Given the description of an element on the screen output the (x, y) to click on. 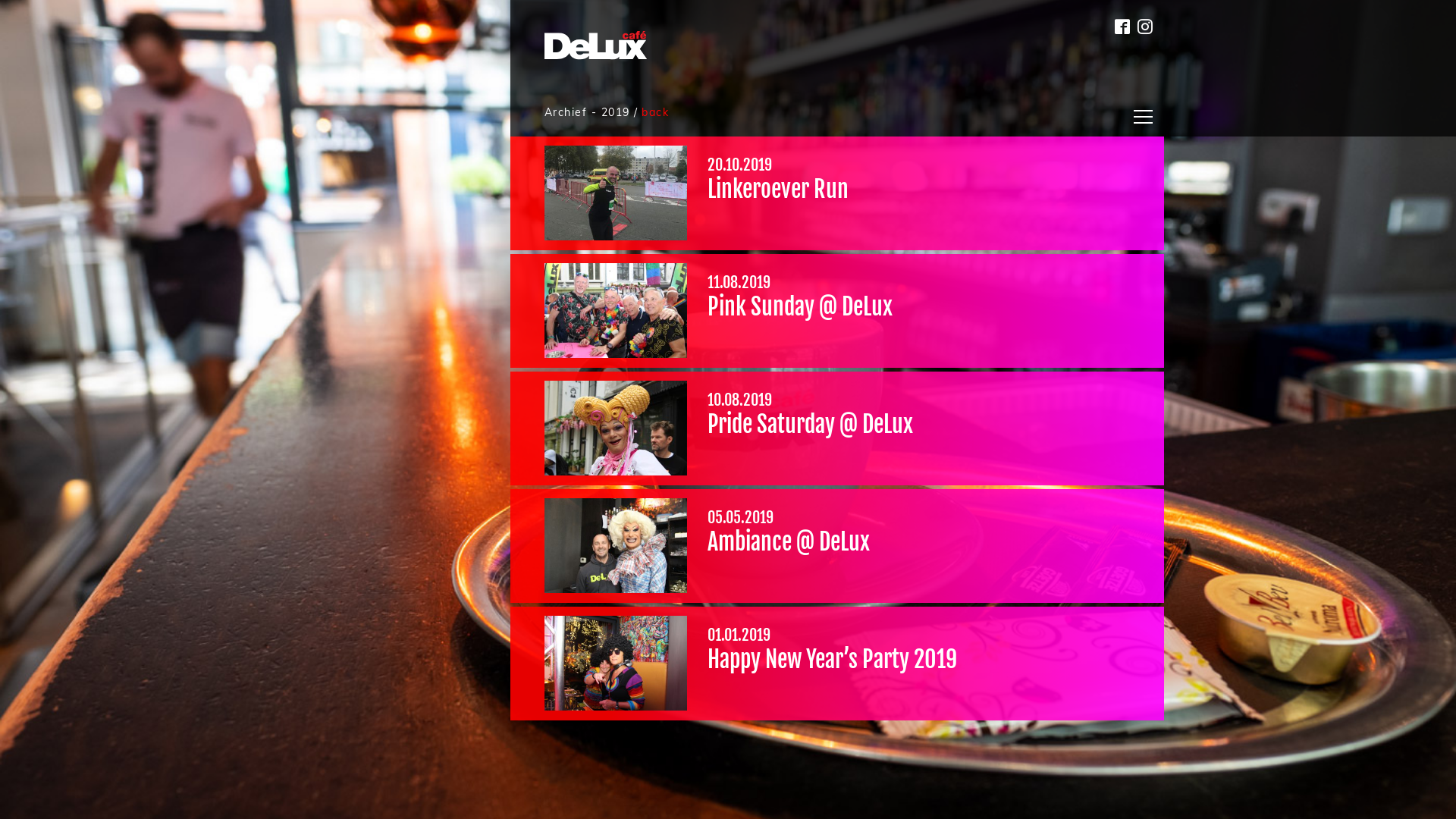
back Element type: text (654, 113)
20.10.2019
Linkeroever Run Element type: text (836, 193)
11.08.2019
Pink Sunday @ DeLux Element type: text (836, 310)
05.05.2019
Ambiance @ DeLux Element type: text (836, 545)
10.08.2019
Pride Saturday @ DeLux Element type: text (836, 428)
